Given the description of an element on the screen output the (x, y) to click on. 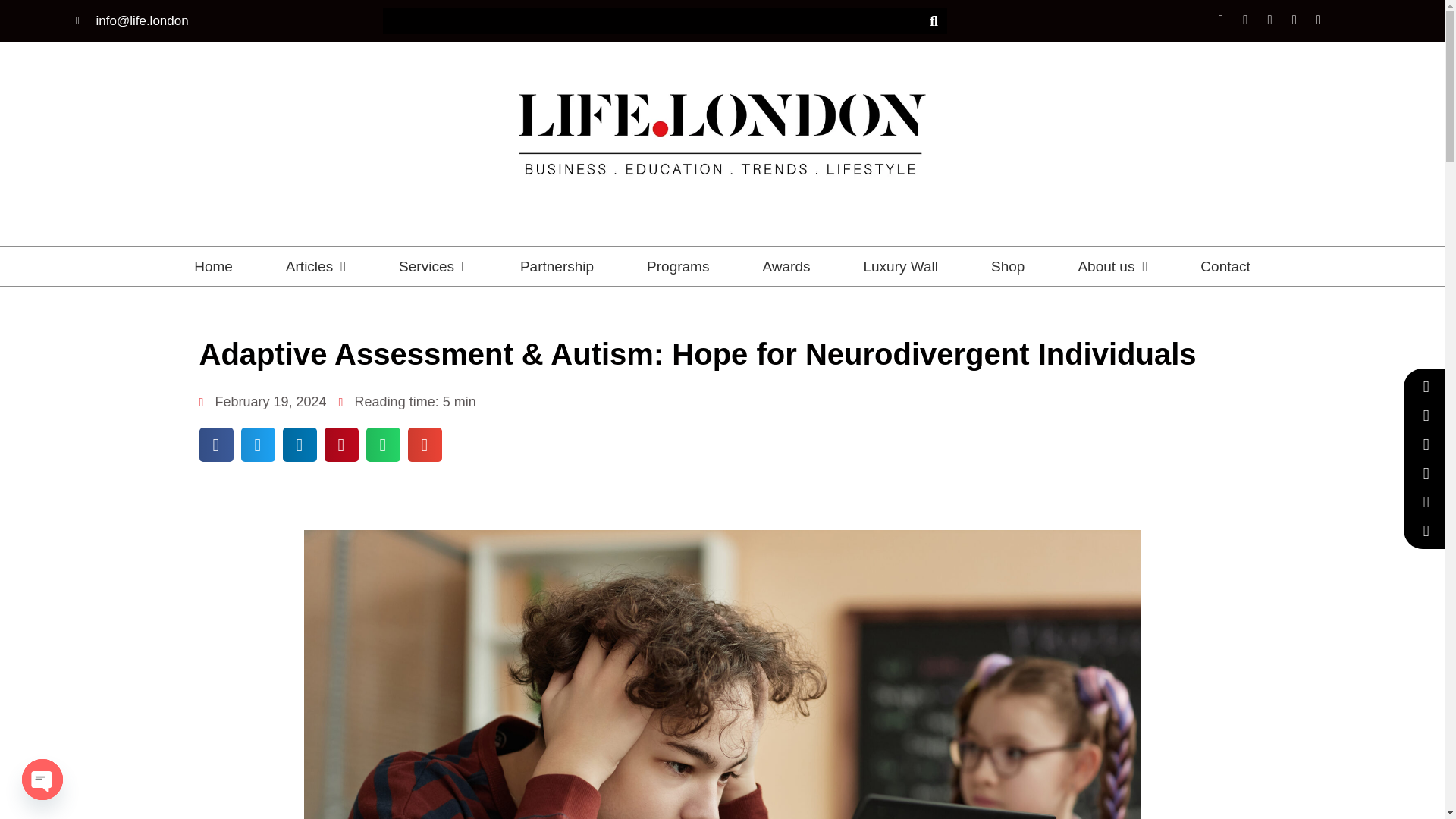
Home (213, 266)
Articles (315, 266)
Services (432, 266)
